Given the description of an element on the screen output the (x, y) to click on. 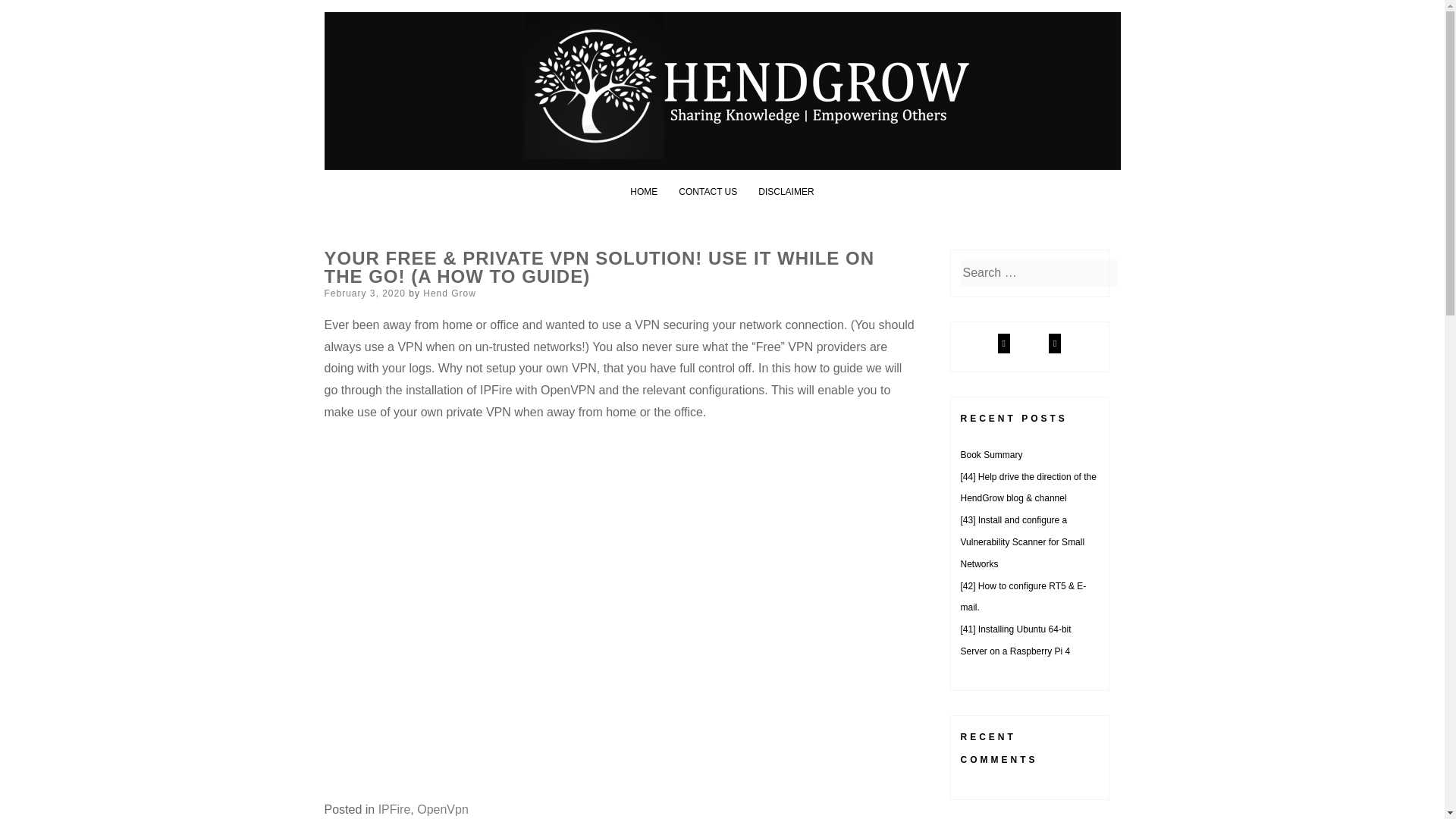
HOME (644, 191)
IPFire (394, 809)
February 3, 2020 (365, 293)
CONTACT US (707, 191)
OpenVpn (442, 809)
Search (29, 13)
Hend Grow (449, 293)
Book Summary (990, 454)
DISCLAIMER (785, 191)
